Given the description of an element on the screen output the (x, y) to click on. 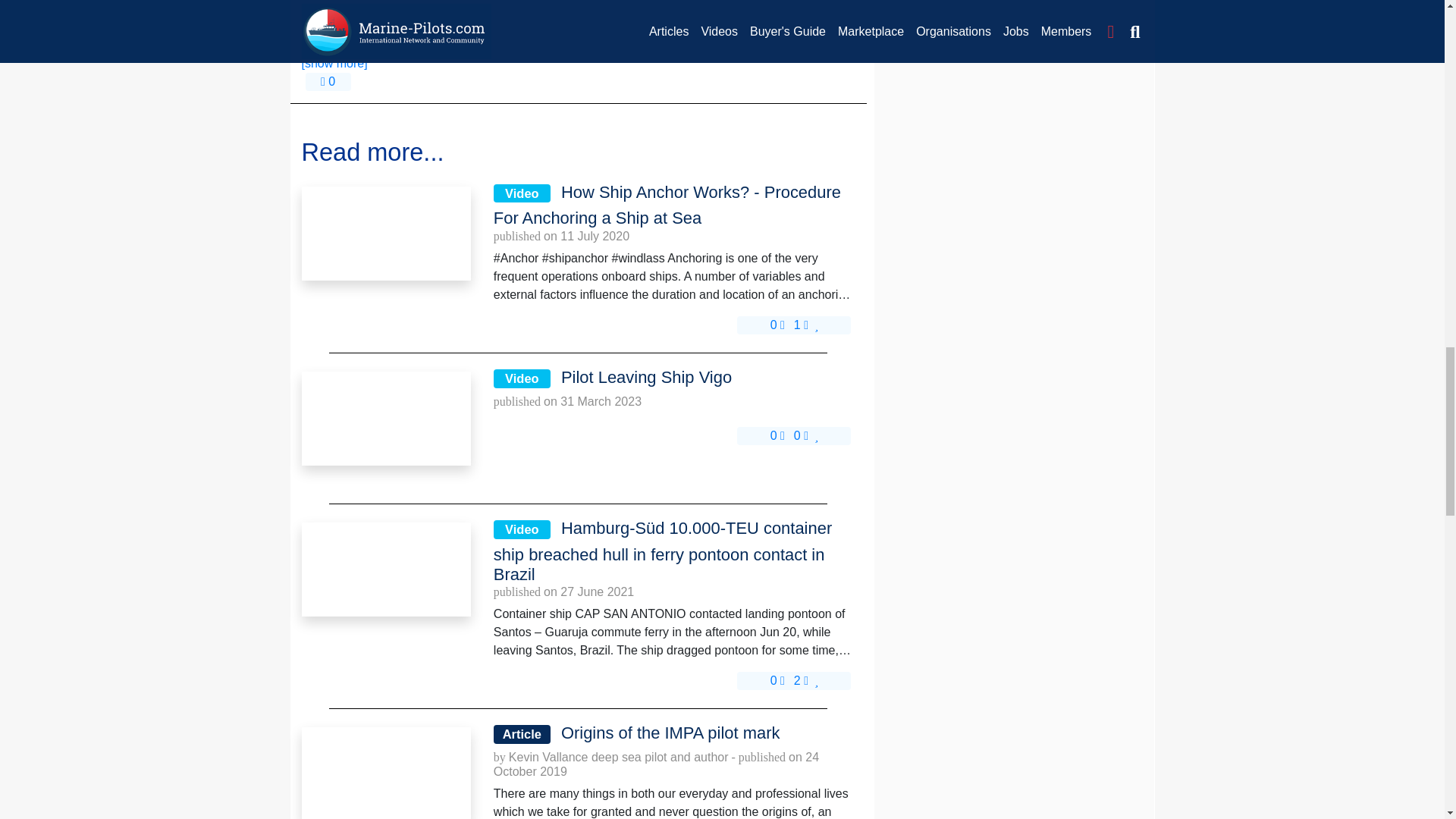
Pilot Leaving Ship Vigo (385, 418)
Origins of the IMPA pilot mark  (385, 773)
Origins of the IMPA pilot mark  (385, 773)
Origins of the IMPA pilot mark  (674, 733)
0 (777, 324)
